Given the description of an element on the screen output the (x, y) to click on. 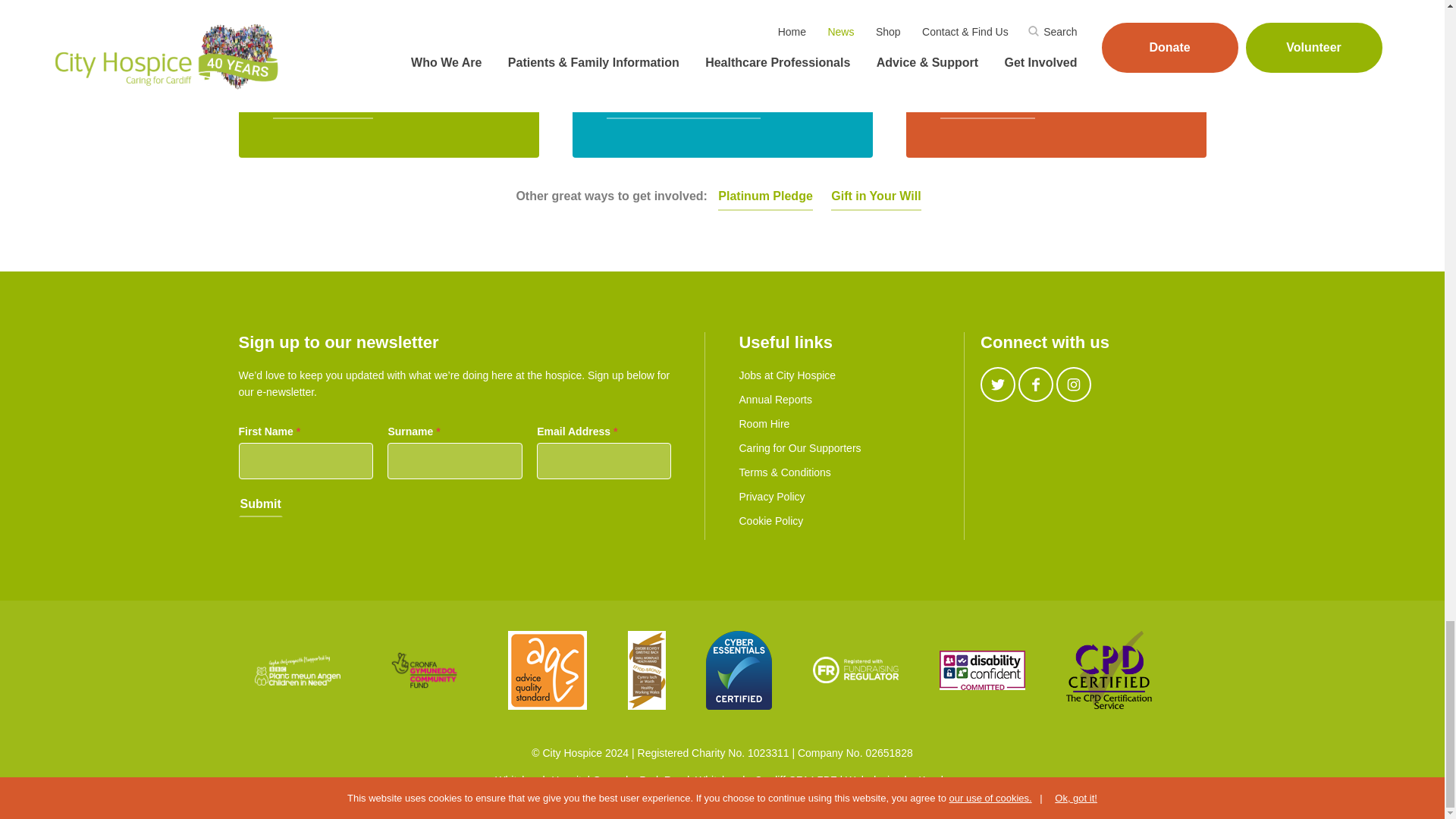
Fundraise for City Hospice (684, 106)
Volunteer with us (322, 106)
Submit (260, 505)
